Given the description of an element on the screen output the (x, y) to click on. 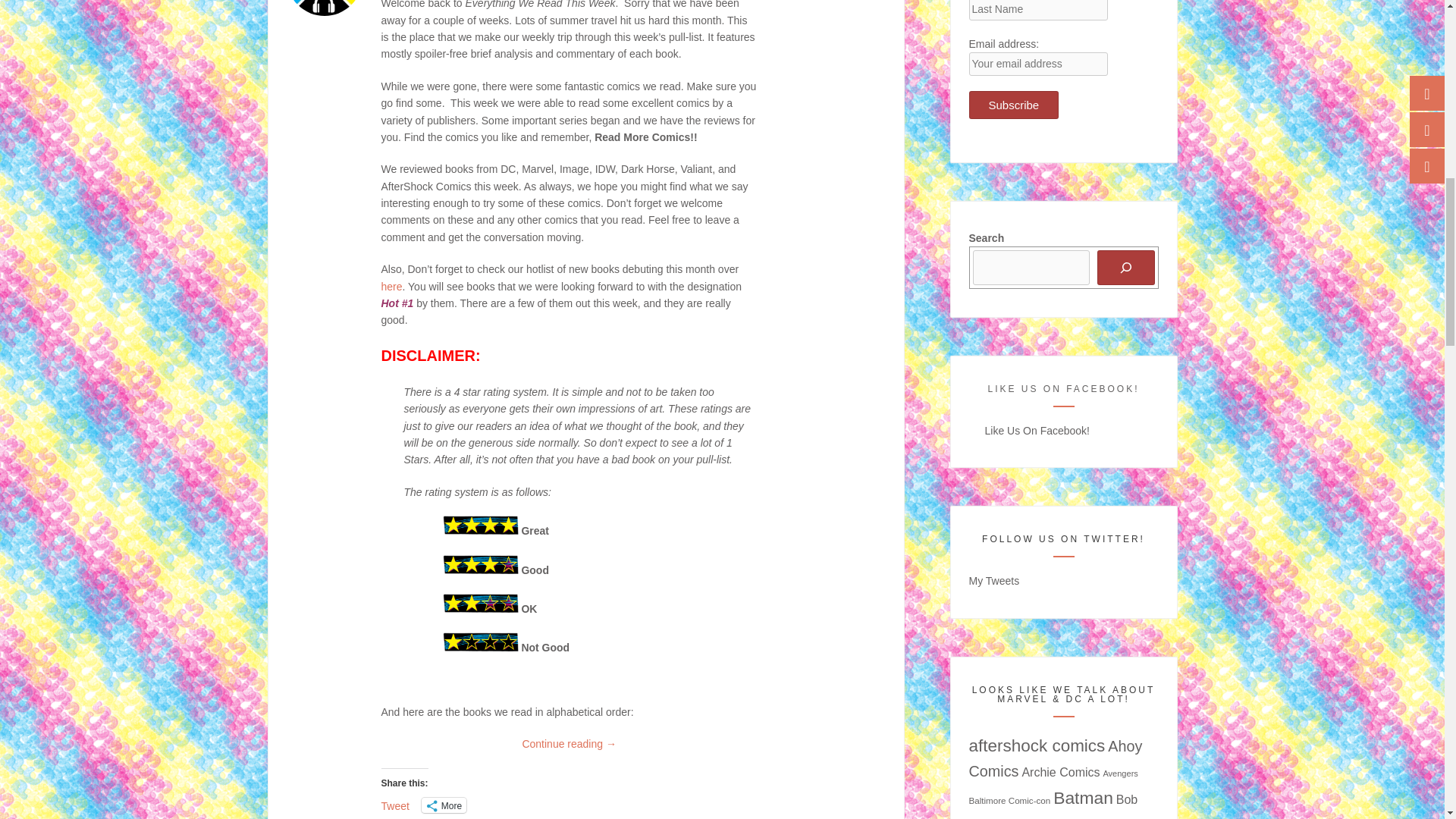
Subscribe (1014, 104)
